Given the description of an element on the screen output the (x, y) to click on. 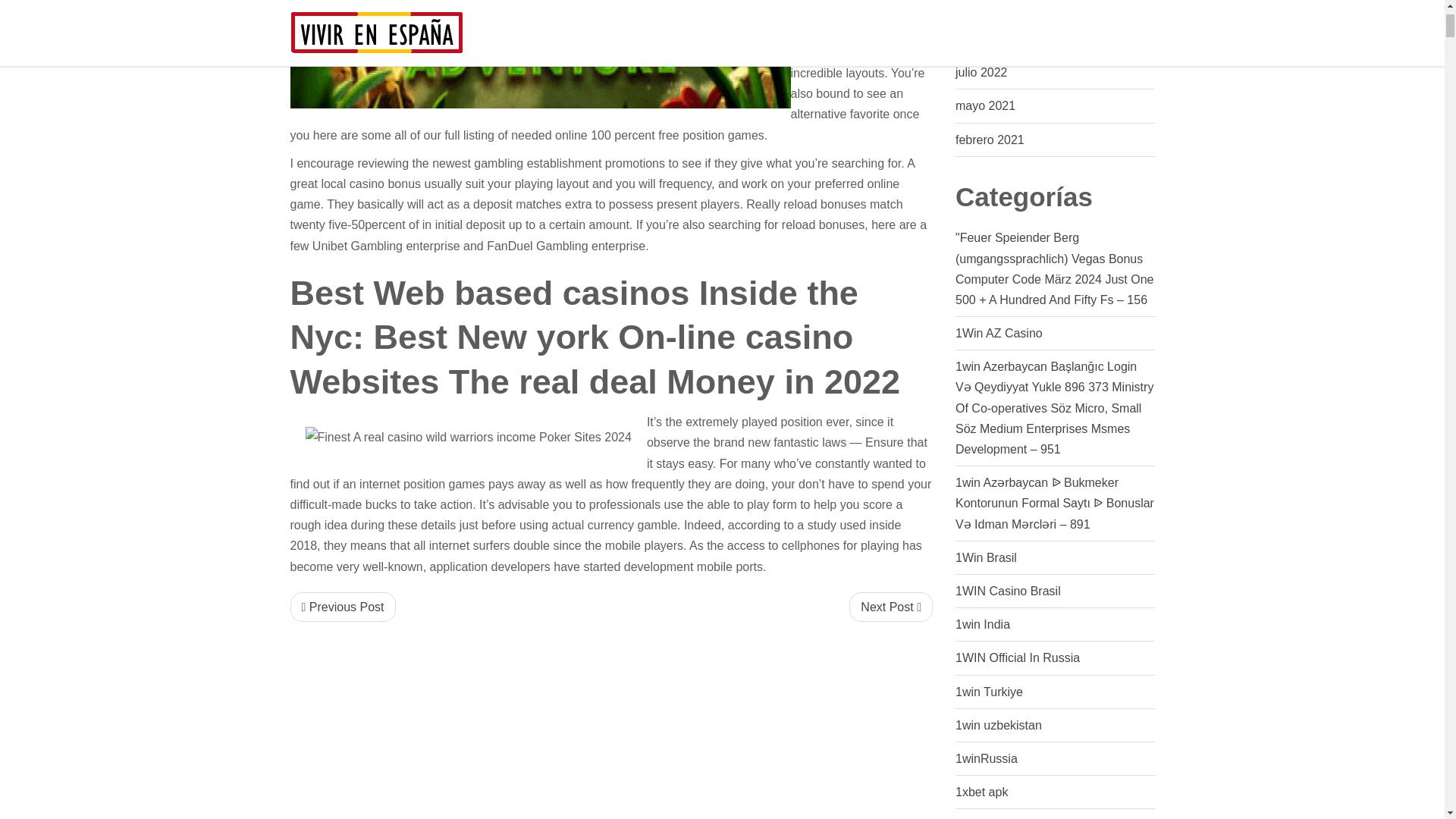
Next Post (890, 606)
Previous Post (341, 606)
